Given the description of an element on the screen output the (x, y) to click on. 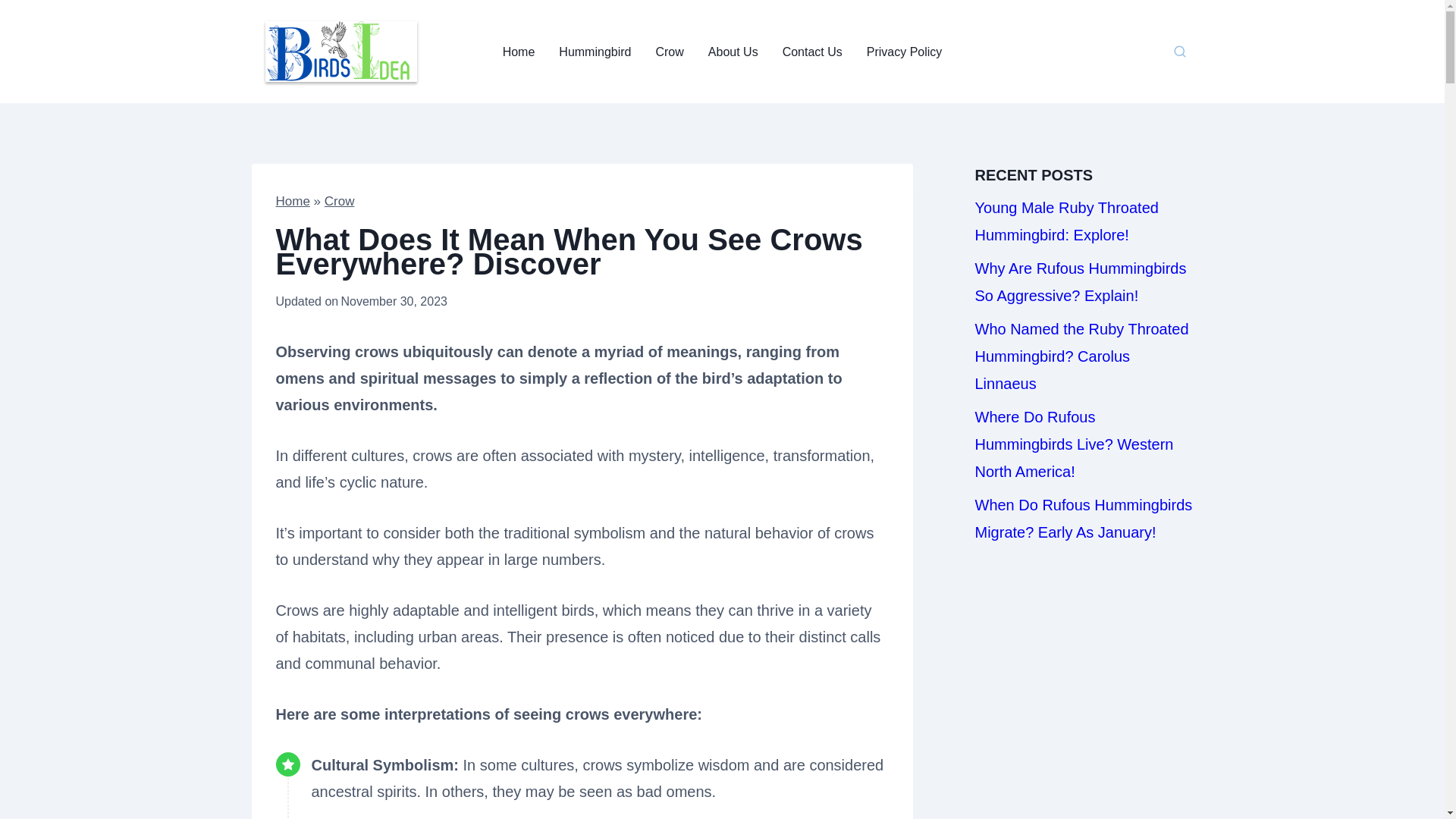
Crow (339, 201)
Home (518, 51)
Crow (669, 51)
Home (293, 201)
Hummingbird (595, 51)
Privacy Policy (904, 51)
About Us (732, 51)
Contact Us (812, 51)
